Given the description of an element on the screen output the (x, y) to click on. 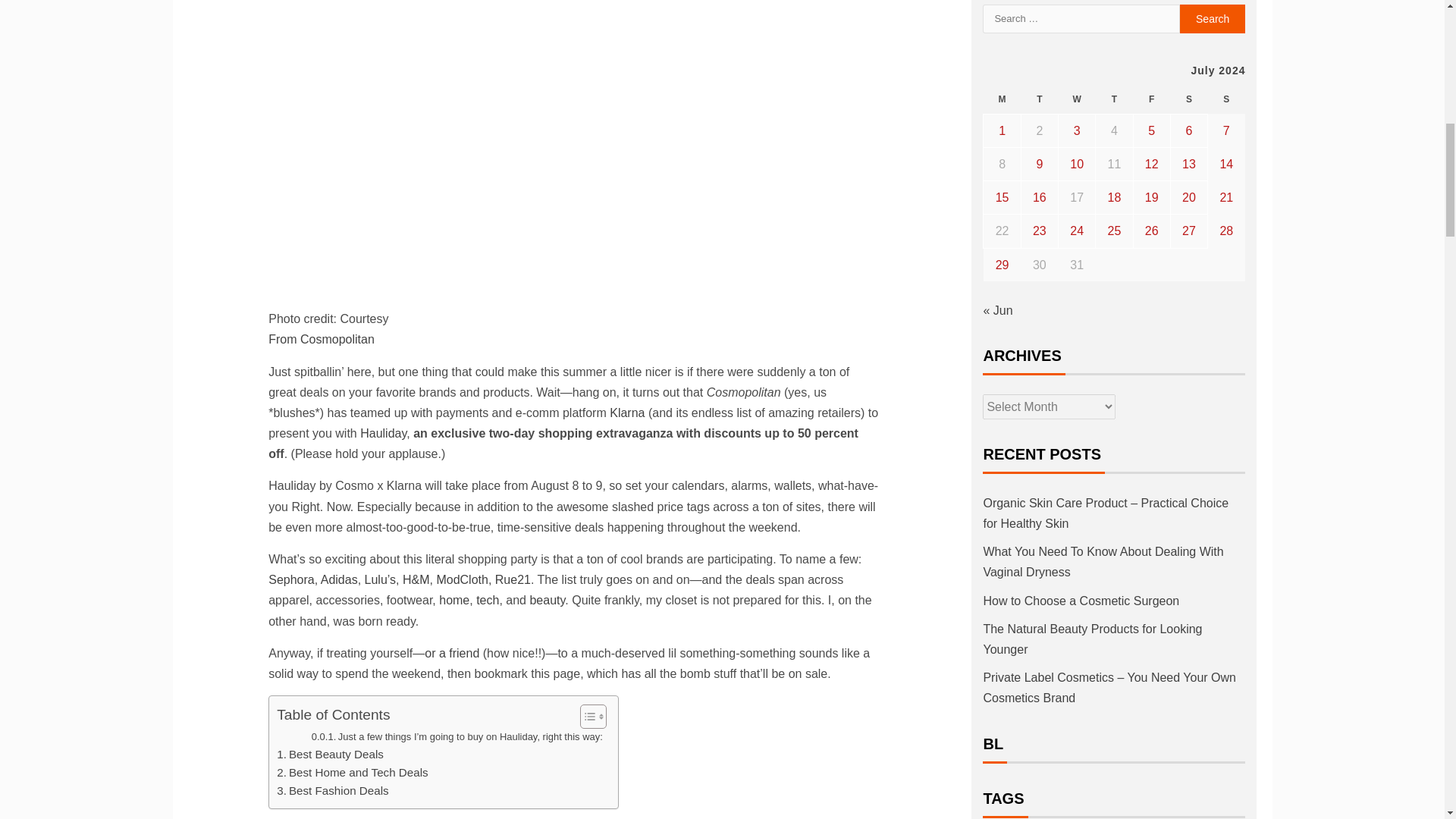
Klarna (627, 412)
From Cosmopolitan (320, 338)
Search (1212, 18)
Monday (1002, 99)
Search (1212, 18)
Rue21 (513, 579)
beauty (546, 599)
Adidas (339, 579)
home (453, 599)
Best Beauty Deals (330, 754)
Best Fashion Deals (332, 791)
tech (487, 599)
ModCloth (461, 579)
Best Home and Tech Deals (352, 772)
Sephora (290, 579)
